Given the description of an element on the screen output the (x, y) to click on. 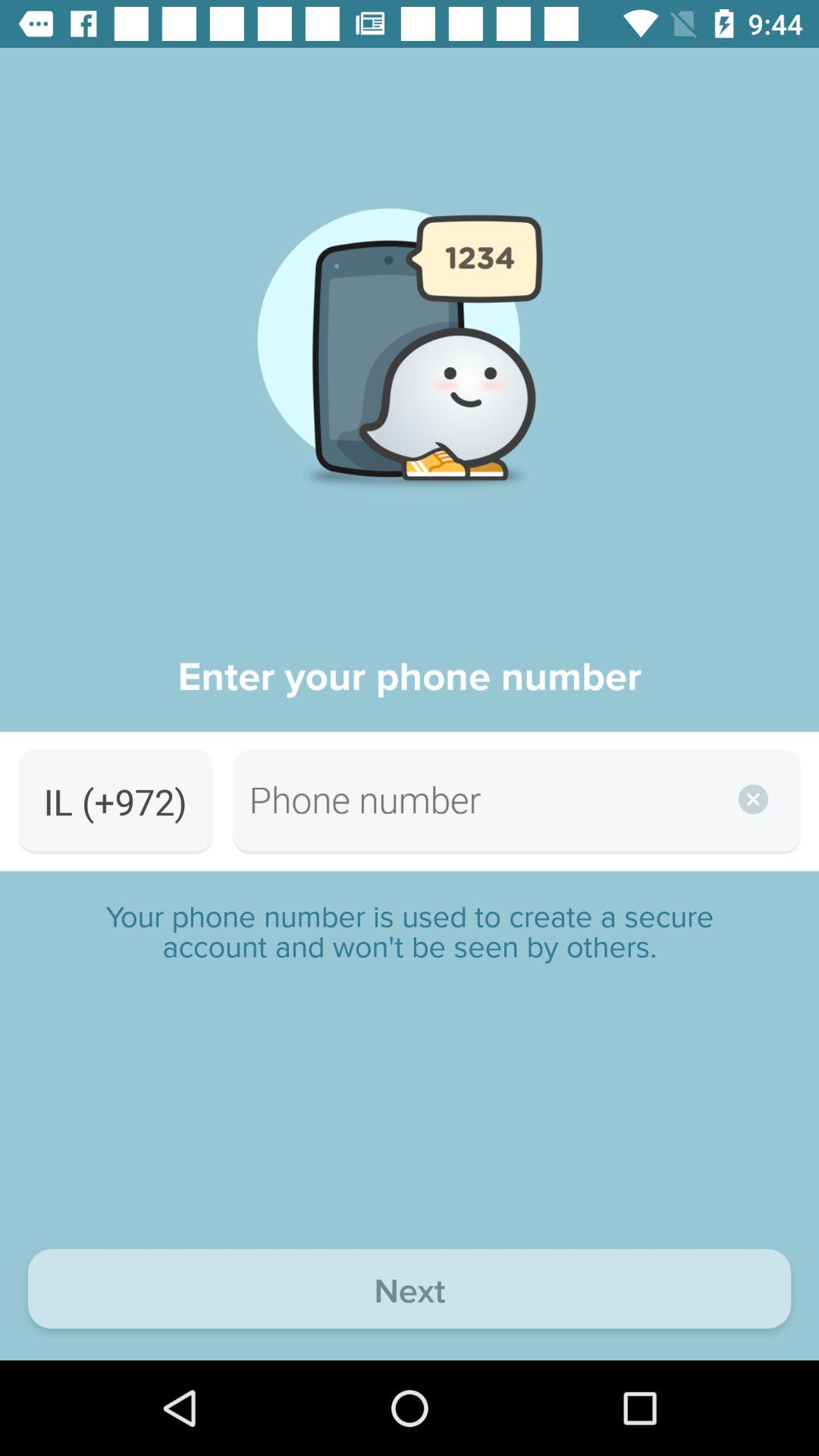
flip to next (409, 1292)
